Given the description of an element on the screen output the (x, y) to click on. 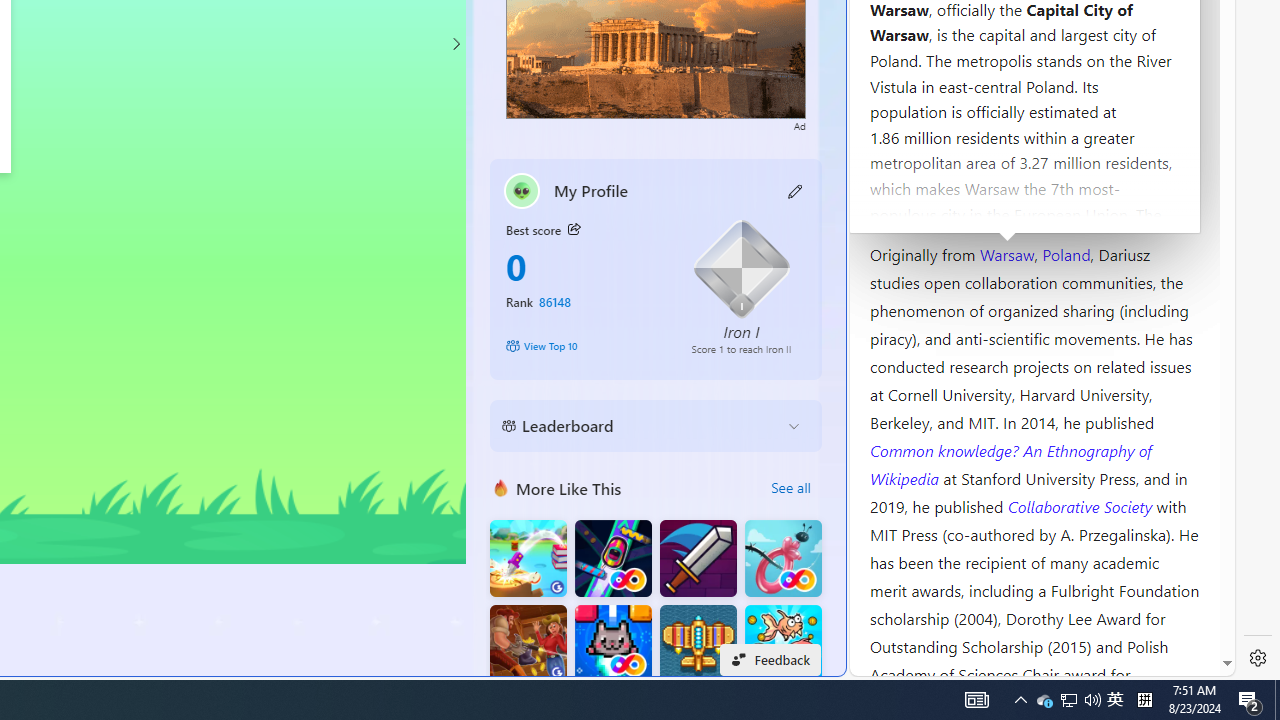
Common knowledge? An Ethnography of Wikipedia (1010, 463)
Actions for this site (1129, 306)
Warsaw (1006, 253)
Class: button edit-icon (795, 190)
Class: control (455, 43)
View Top 10 (584, 345)
Feedback (769, 659)
Leaderboard (639, 425)
See all (790, 487)
google_privacy_policy_zh-CN.pdf (687, 482)
